Given the description of an element on the screen output the (x, y) to click on. 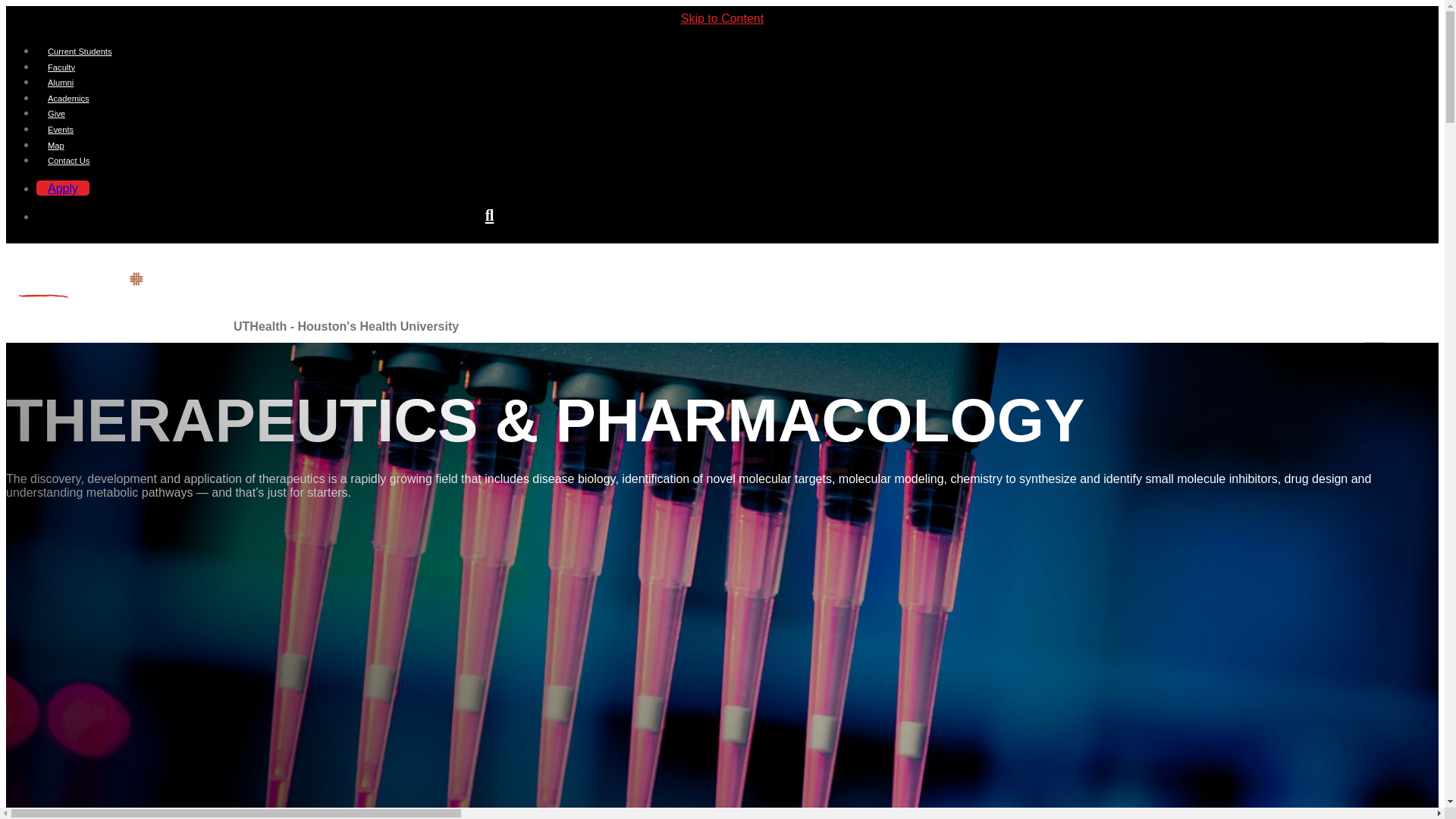
Faculty (60, 67)
Events (60, 129)
Give (56, 113)
Current Students (79, 51)
Contact Us (68, 160)
Apply (62, 187)
Academics (68, 98)
Skip to Content (721, 18)
Map (55, 145)
Alumni (60, 82)
Menu (1374, 344)
